Given the description of an element on the screen output the (x, y) to click on. 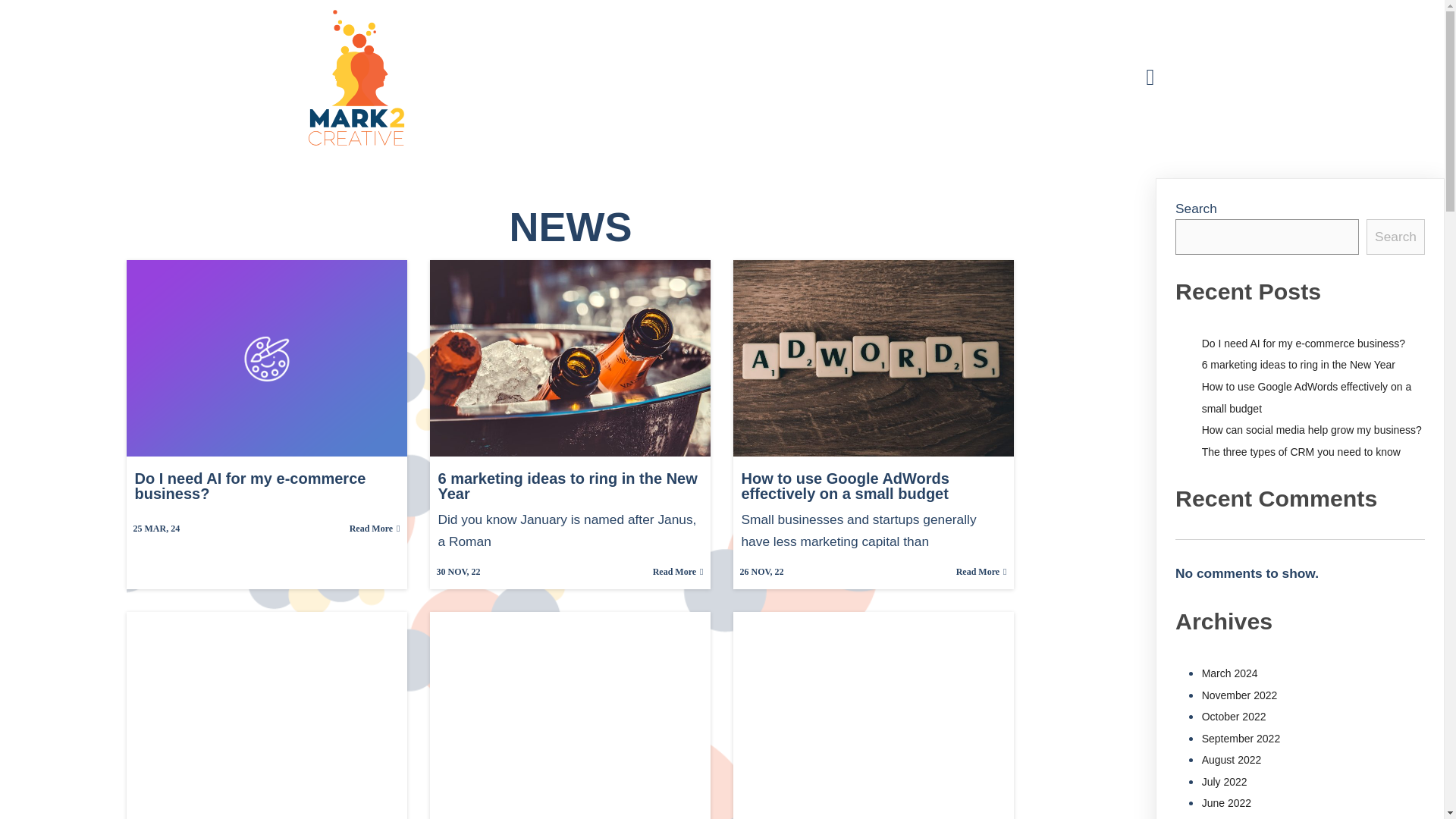
Read More (677, 571)
Read More (981, 571)
Read More (374, 528)
6 marketing ideas to ring in the New Year (570, 485)
mk2-logo (356, 77)
How to use Google AdWords effectively on a small budget (873, 485)
Do I need AI for my e-commerce business? (265, 485)
